Given the description of an element on the screen output the (x, y) to click on. 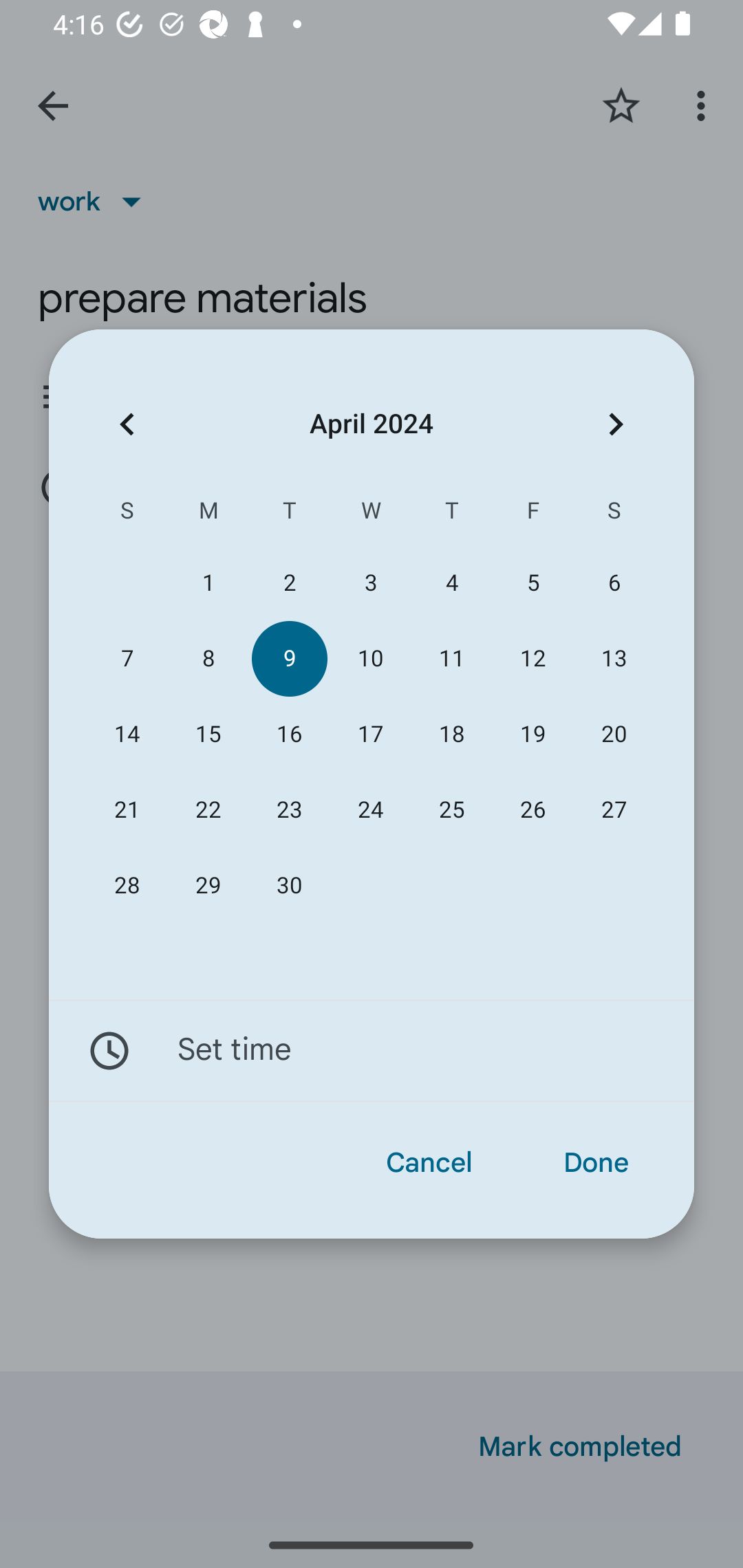
Previous month (126, 424)
Next month (615, 424)
1 01 April 2024 (207, 582)
2 02 April 2024 (288, 582)
3 03 April 2024 (370, 582)
4 04 April 2024 (451, 582)
5 05 April 2024 (532, 582)
6 06 April 2024 (613, 582)
7 07 April 2024 (126, 658)
8 08 April 2024 (207, 658)
9 09 April 2024 (288, 658)
10 10 April 2024 (370, 658)
11 11 April 2024 (451, 658)
12 12 April 2024 (532, 658)
13 13 April 2024 (613, 658)
14 14 April 2024 (126, 734)
15 15 April 2024 (207, 734)
16 16 April 2024 (288, 734)
17 17 April 2024 (370, 734)
18 18 April 2024 (451, 734)
19 19 April 2024 (532, 734)
20 20 April 2024 (613, 734)
21 21 April 2024 (126, 810)
22 22 April 2024 (207, 810)
23 23 April 2024 (288, 810)
24 24 April 2024 (370, 810)
25 25 April 2024 (451, 810)
26 26 April 2024 (532, 810)
27 27 April 2024 (613, 810)
28 28 April 2024 (126, 885)
29 29 April 2024 (207, 885)
30 30 April 2024 (288, 885)
Set time (371, 1050)
Cancel (429, 1162)
Done (595, 1162)
